Given the description of an element on the screen output the (x, y) to click on. 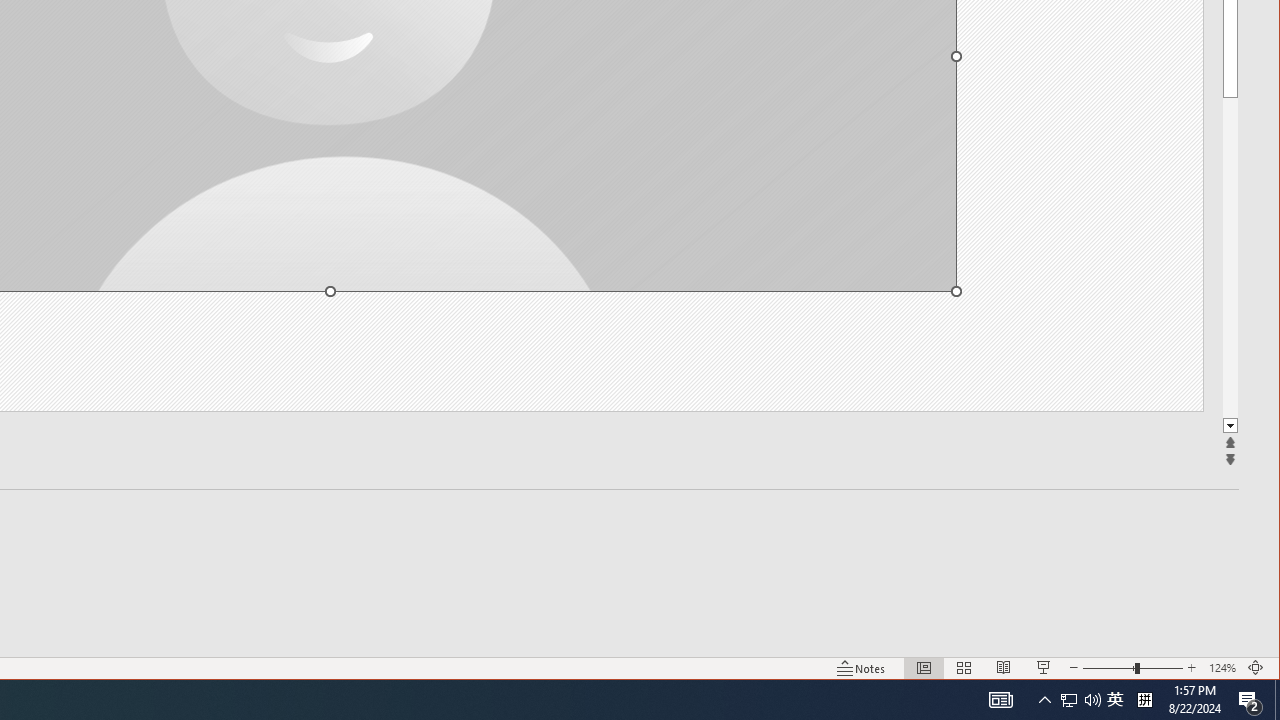
Notification Chevron (1044, 699)
Zoom 124% (1222, 668)
AutomationID: 4105 (1000, 699)
Normal (923, 668)
Tray Input Indicator - Chinese (Simplified, China) (1144, 699)
Zoom In (1191, 668)
Page down (1230, 258)
Line down (1230, 426)
Q2790: 100% (1092, 699)
Zoom to Fit  (1256, 668)
Reading View (1004, 668)
Slide Sorter (964, 668)
Notes  (861, 668)
